Given the description of an element on the screen output the (x, y) to click on. 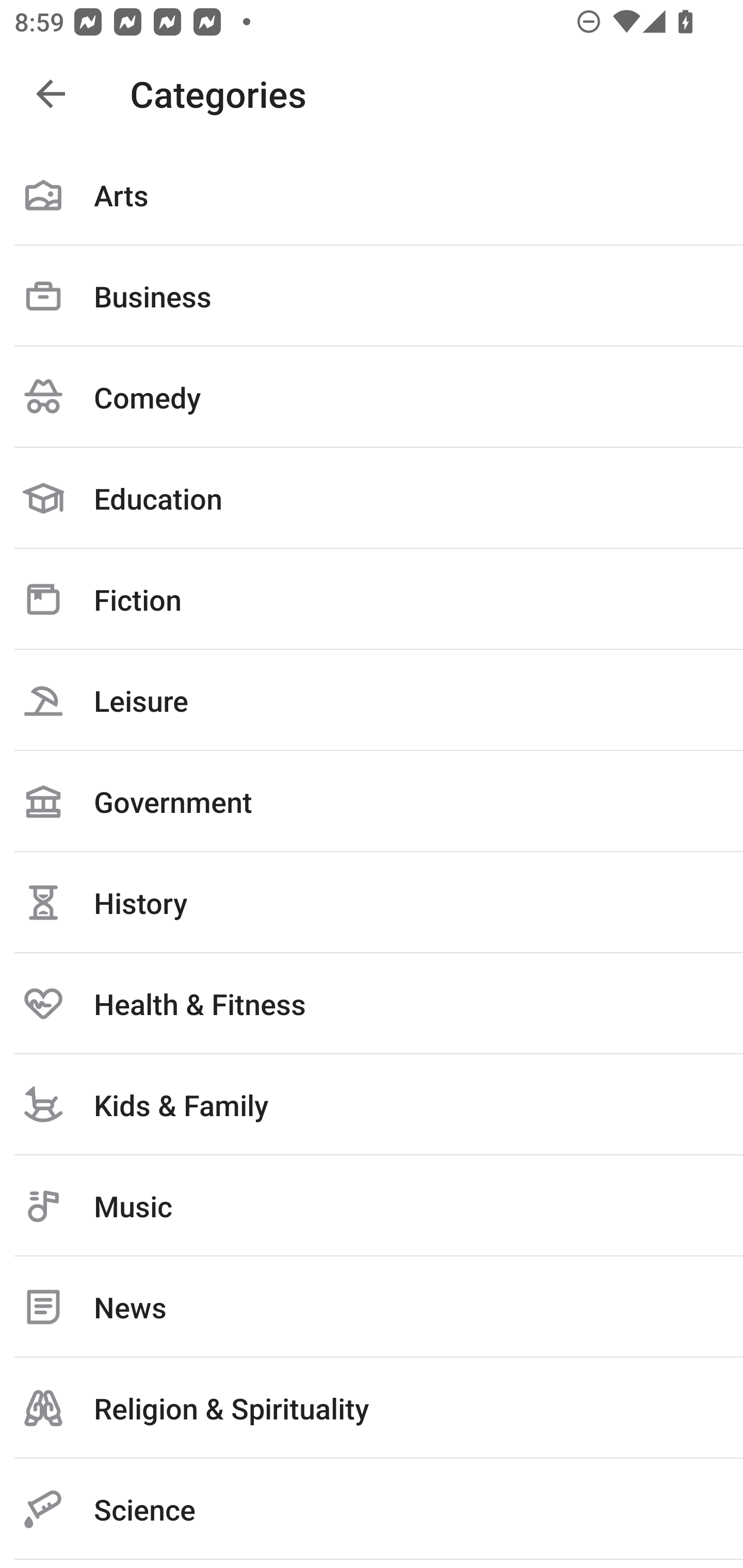
Navigate up (50, 93)
Arts (371, 195)
Business (371, 296)
Comedy (371, 397)
Education (371, 498)
Fiction (371, 598)
Leisure (371, 700)
Government (371, 801)
History (371, 902)
Health & Fitness (371, 1003)
Kids & Family (371, 1104)
Music (371, 1205)
News (371, 1306)
Religion & Spirituality (371, 1407)
Science (371, 1509)
